Given the description of an element on the screen output the (x, y) to click on. 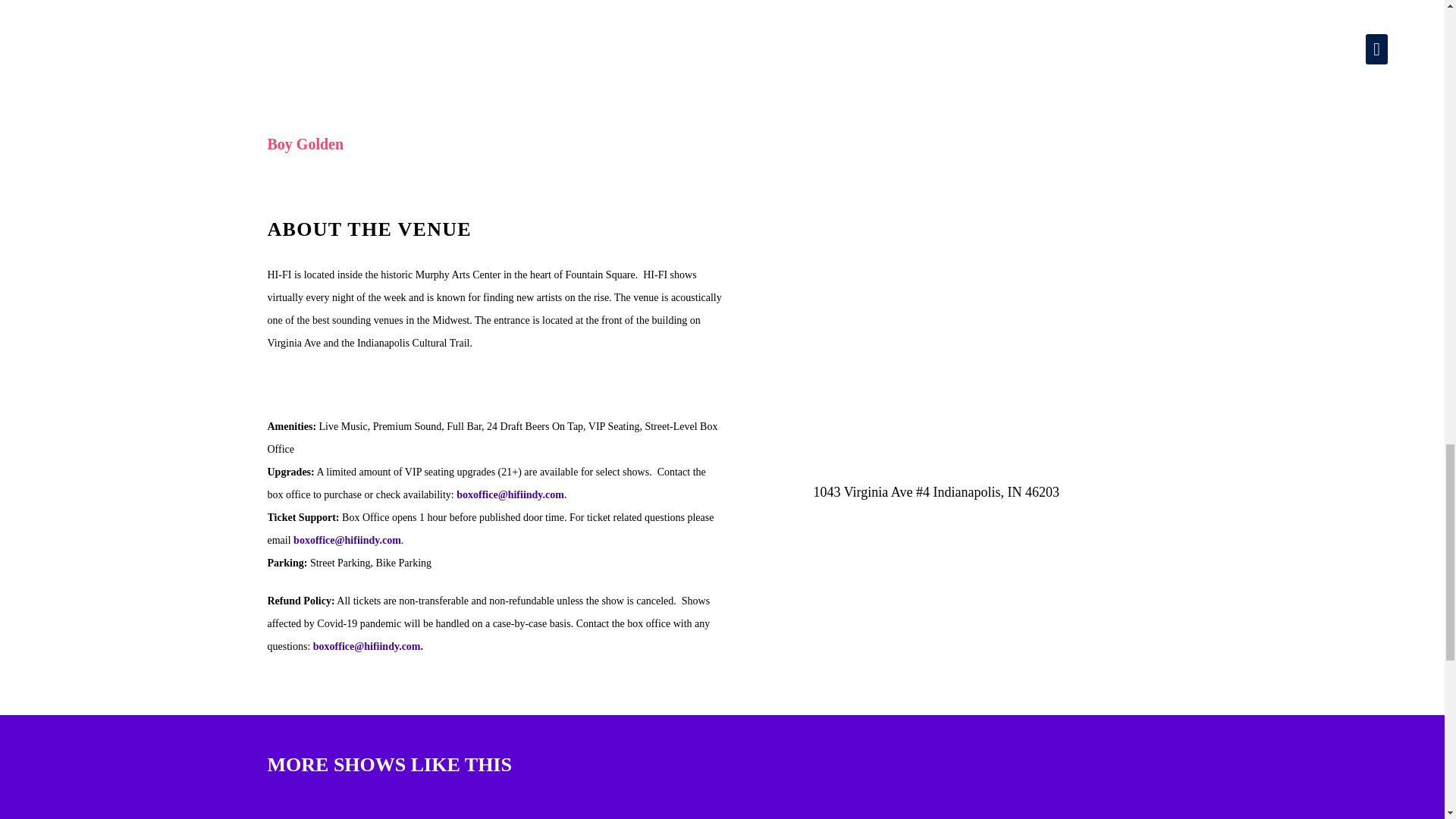
Boy Golden (304, 143)
